Given the description of an element on the screen output the (x, y) to click on. 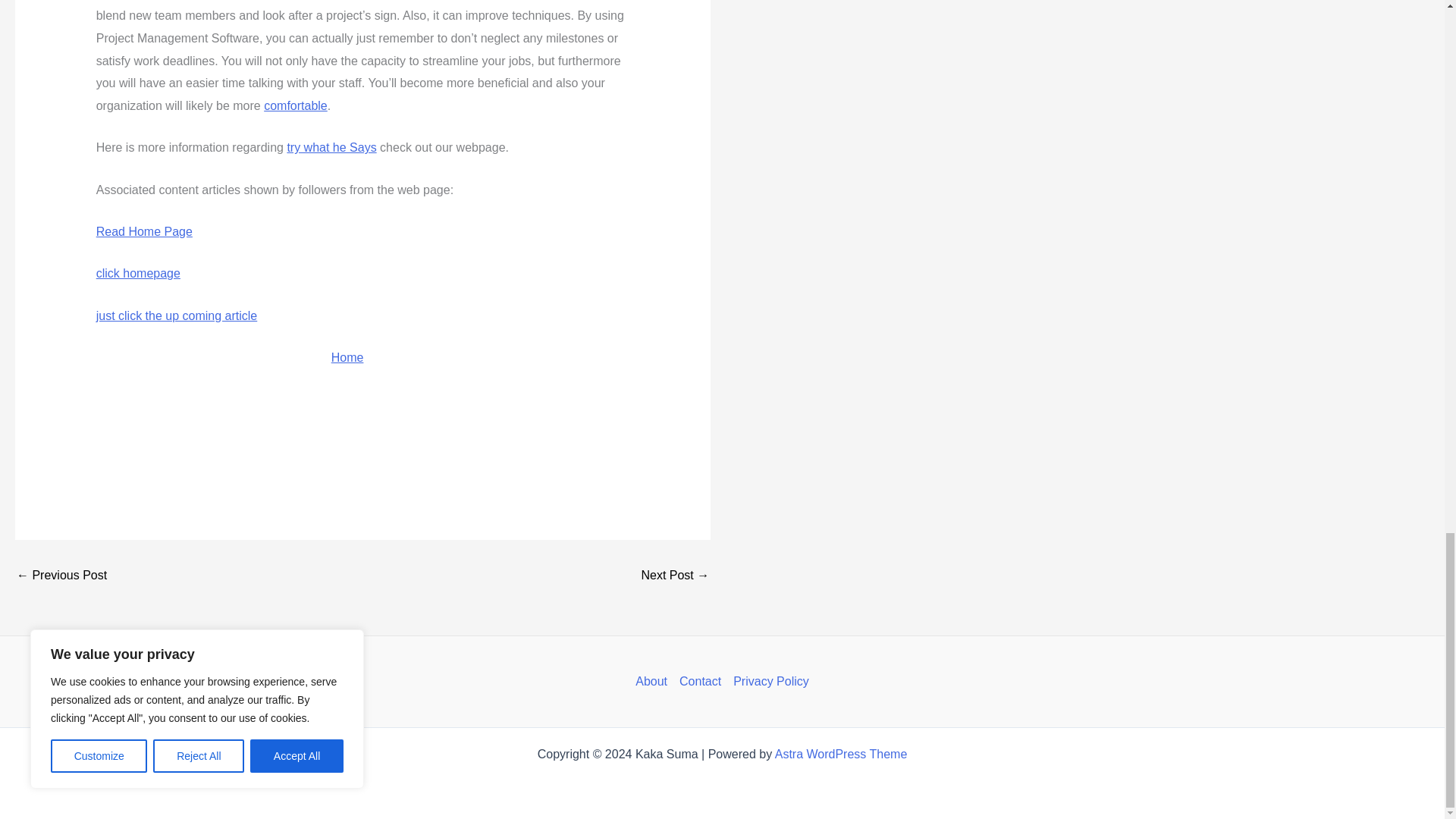
try what he Says (330, 146)
Spending in Property (61, 575)
comfortable (295, 105)
Read Home Page (144, 231)
Home (347, 357)
3 Reasons That Taking A Trip is necessary (674, 575)
click homepage (138, 273)
just click the up coming article (176, 315)
